Given the description of an element on the screen output the (x, y) to click on. 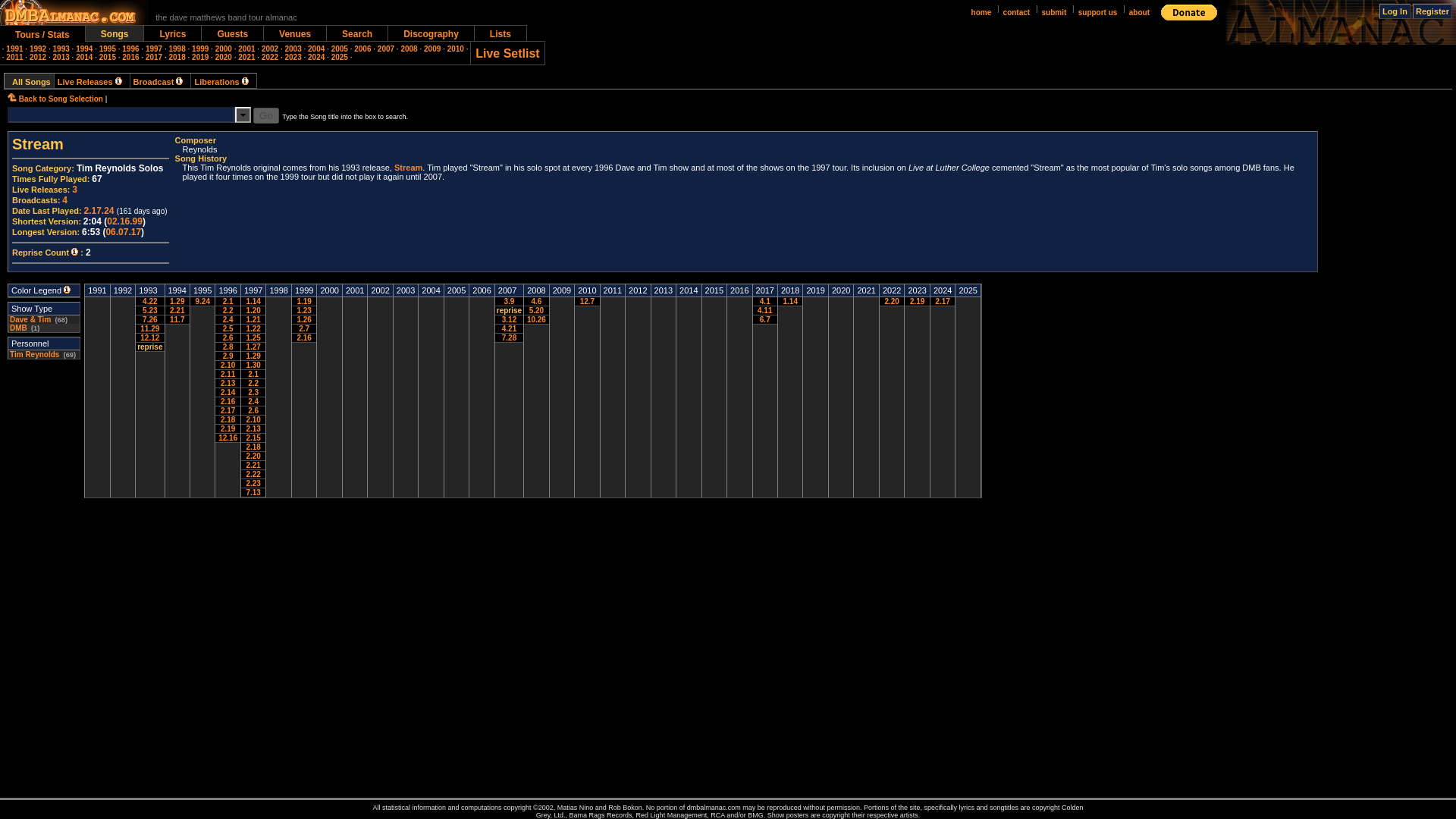
2004 (315, 49)
about (1139, 12)
Log In (1394, 11)
Discography (430, 33)
1997 (153, 49)
contact (1016, 12)
1999 (200, 49)
2005 (339, 49)
2011 (14, 57)
2002 (270, 49)
Lyrics (172, 33)
Guests (231, 33)
1998 (176, 49)
Register (1431, 11)
Log In (1394, 11)
